Given the description of an element on the screen output the (x, y) to click on. 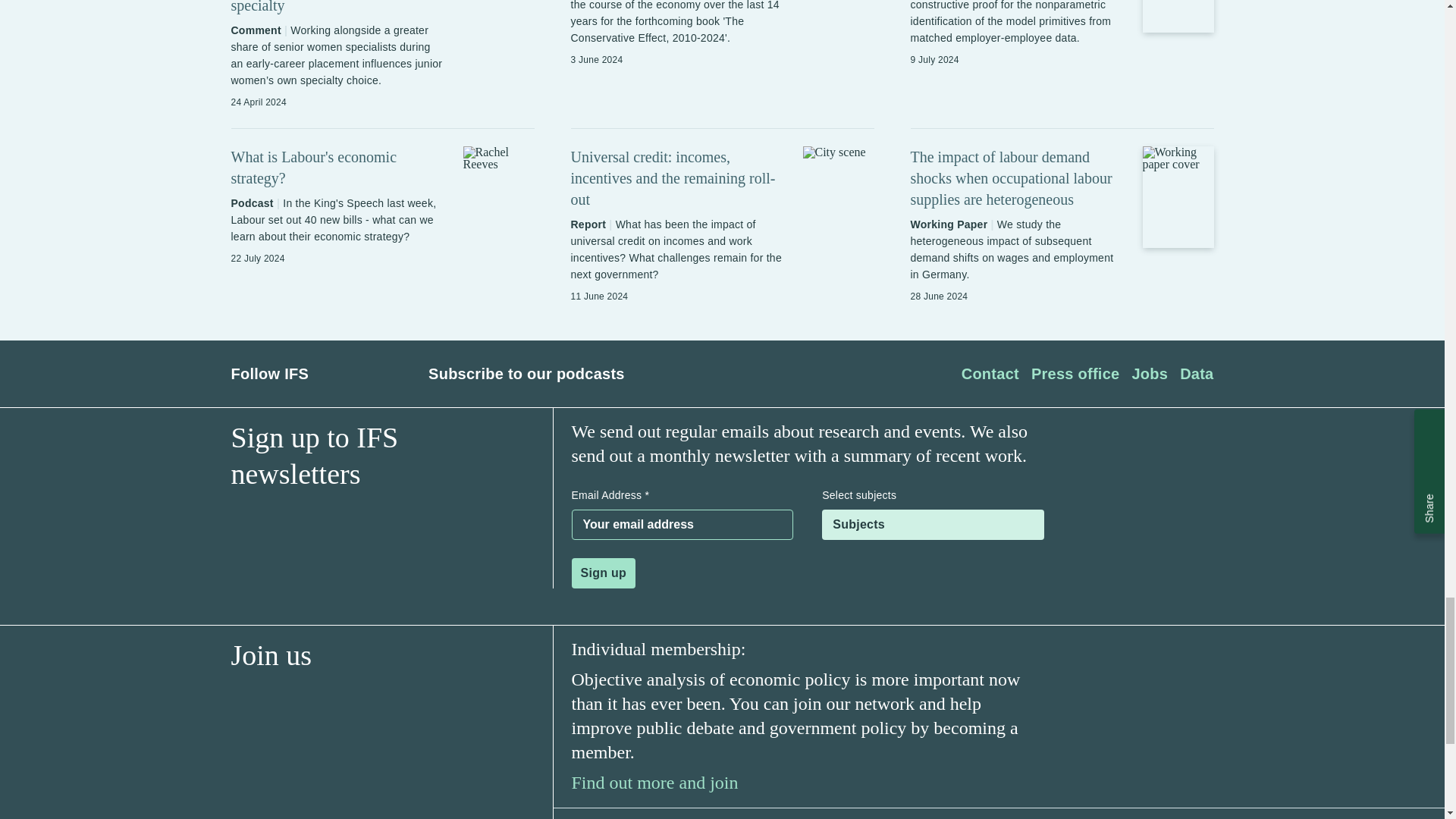
Visit the Twitter profile of IFS (359, 373)
Visit the Facebook page of IFS (329, 373)
Visit the YouTube profile of IFS (391, 373)
